Given the description of an element on the screen output the (x, y) to click on. 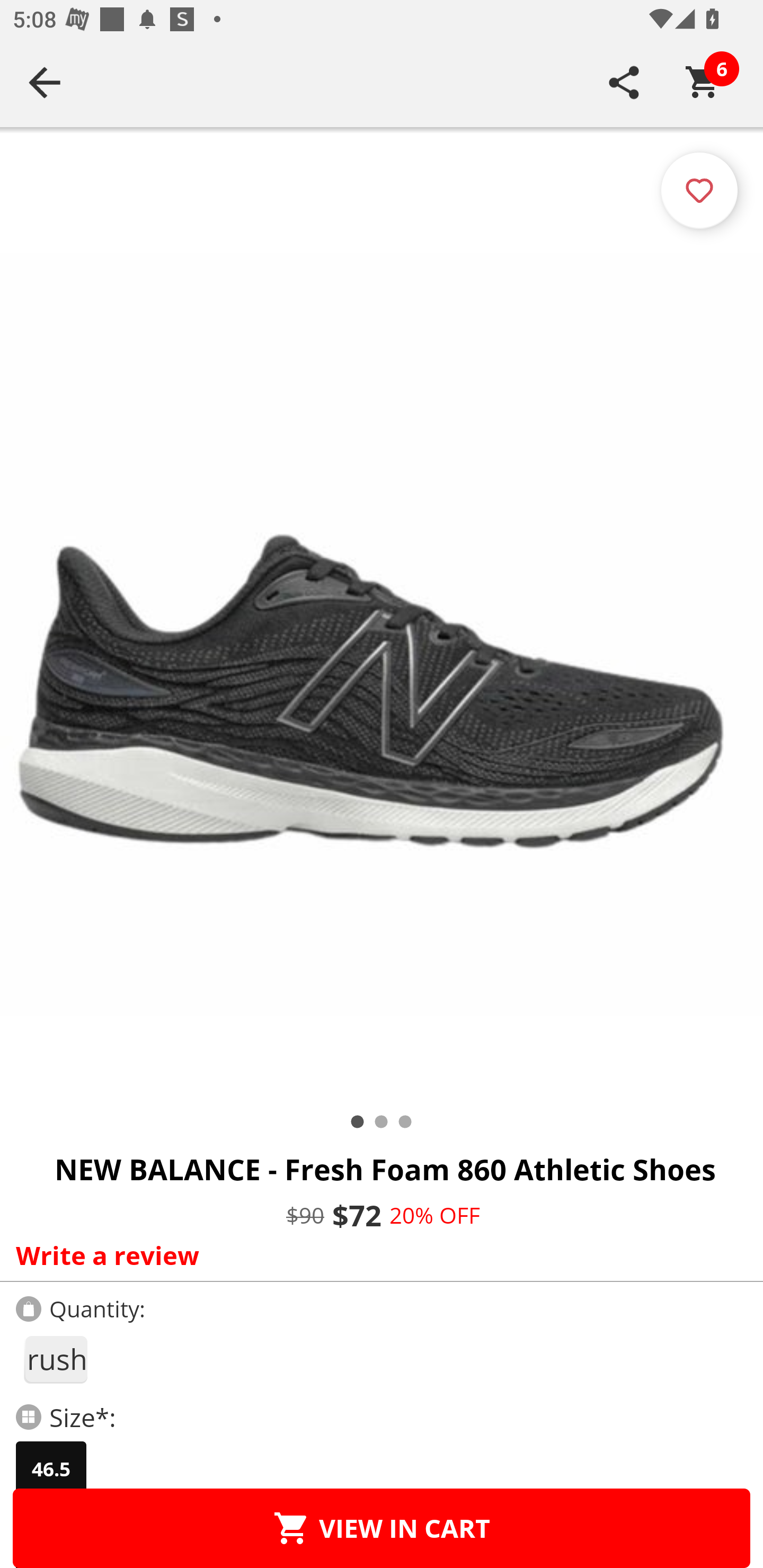
Navigate up (44, 82)
SHARE (623, 82)
Cart (703, 81)
Write a review (377, 1255)
1toothbrush (55, 1358)
46.5 (51, 1468)
VIEW IN CART (381, 1528)
